Given the description of an element on the screen output the (x, y) to click on. 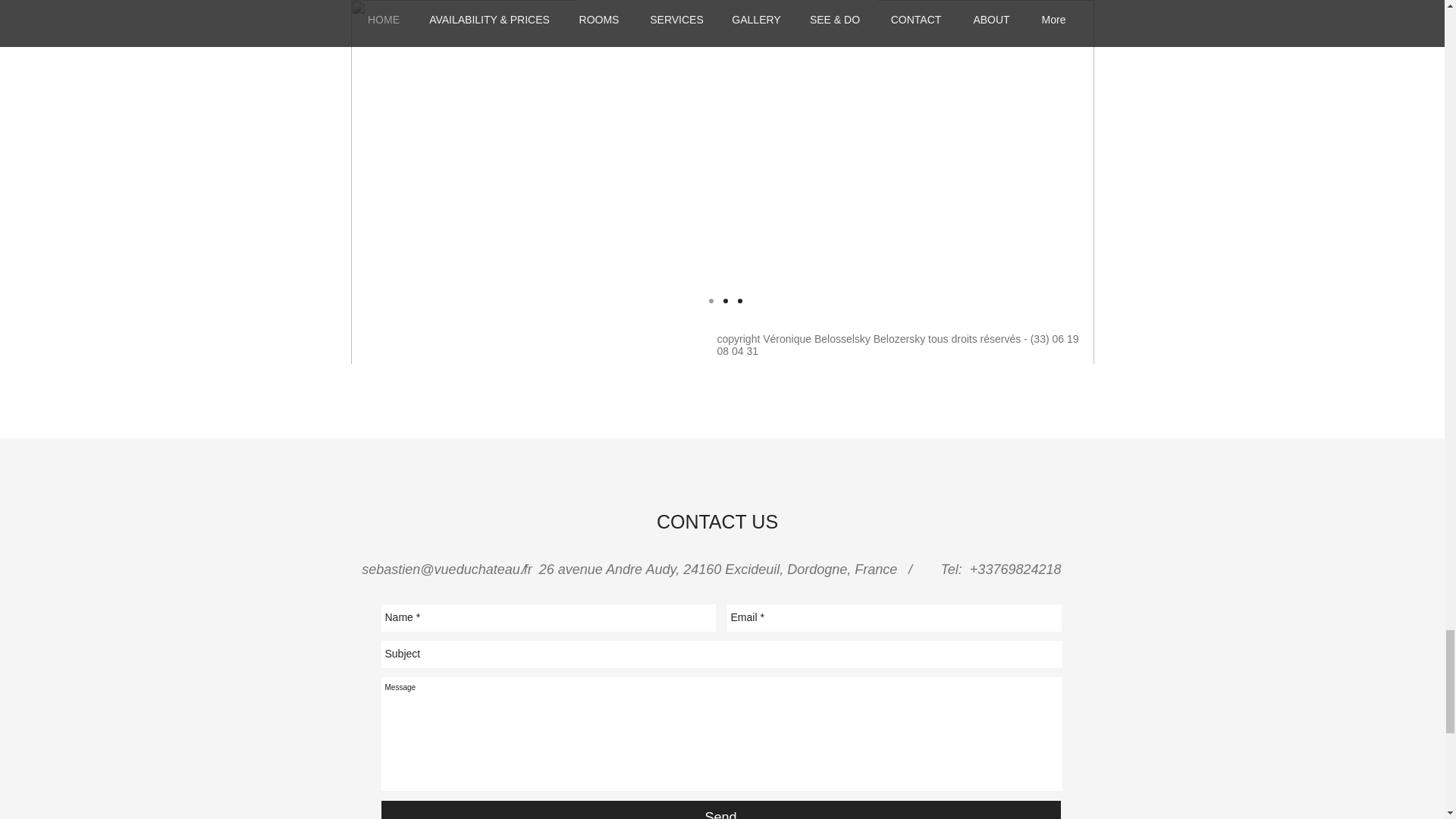
Send (719, 809)
